Given the description of an element on the screen output the (x, y) to click on. 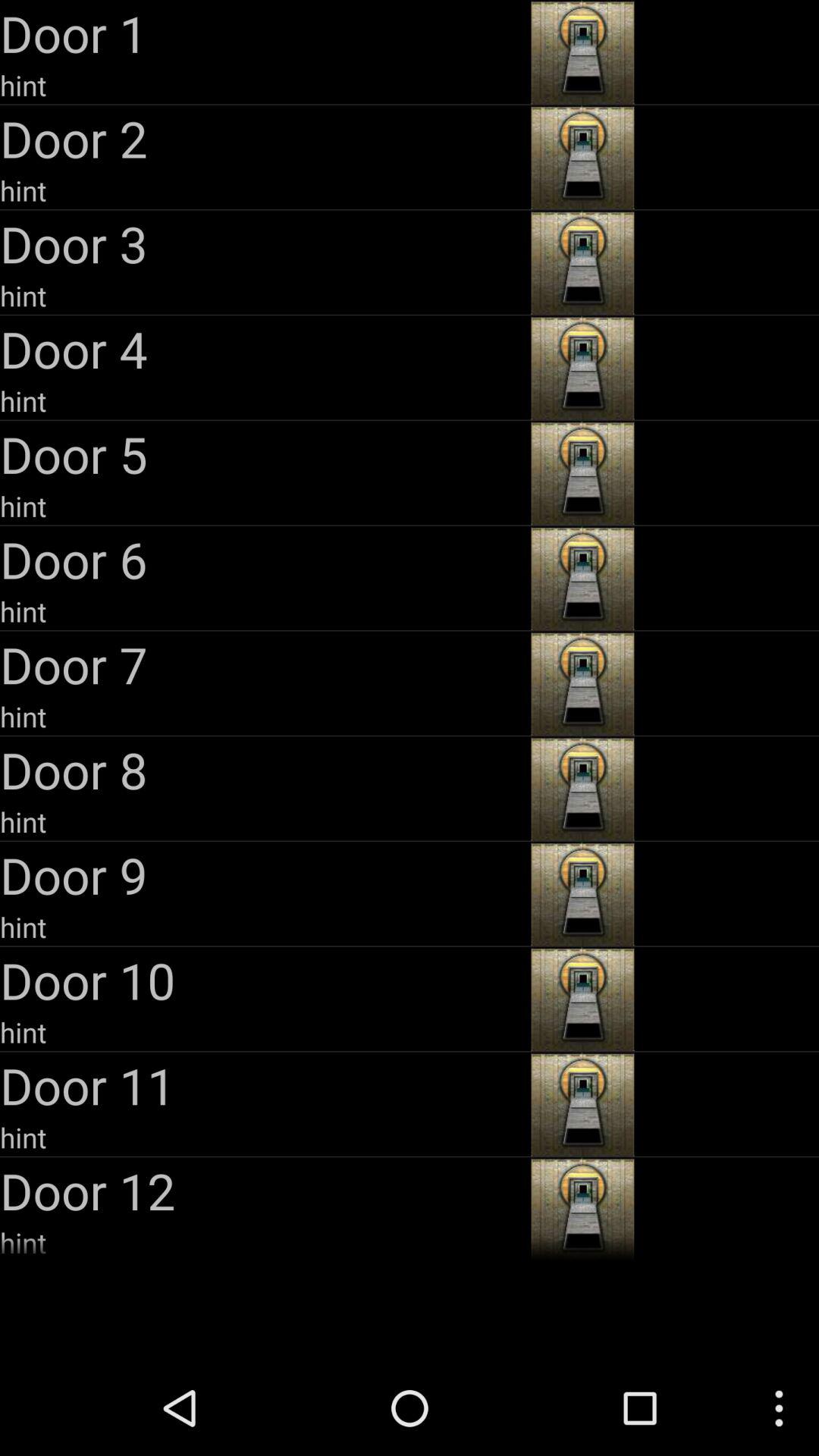
launch door 2 (263, 138)
